Given the description of an element on the screen output the (x, y) to click on. 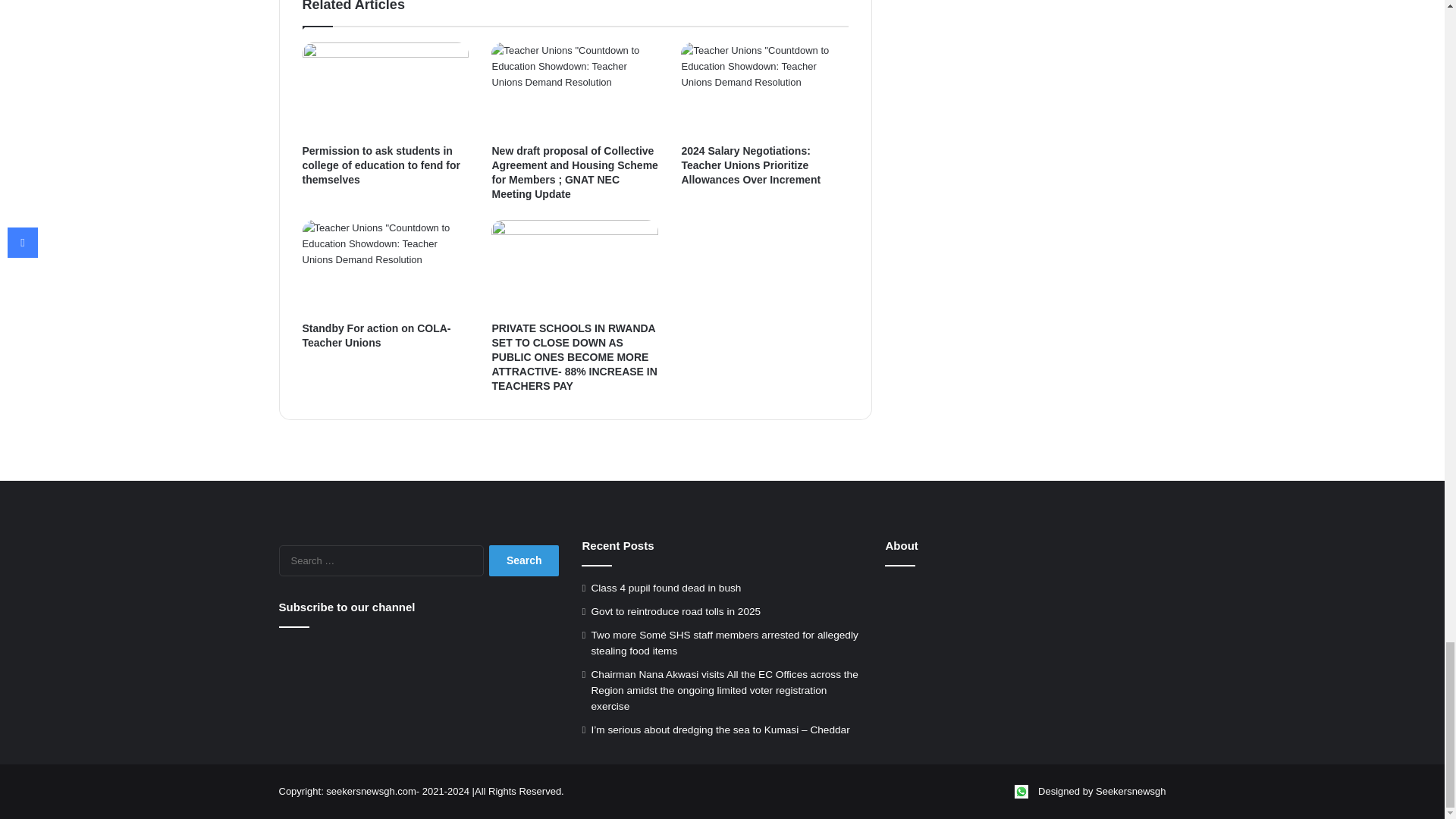
Search (524, 560)
Search (524, 560)
